Given the description of an element on the screen output the (x, y) to click on. 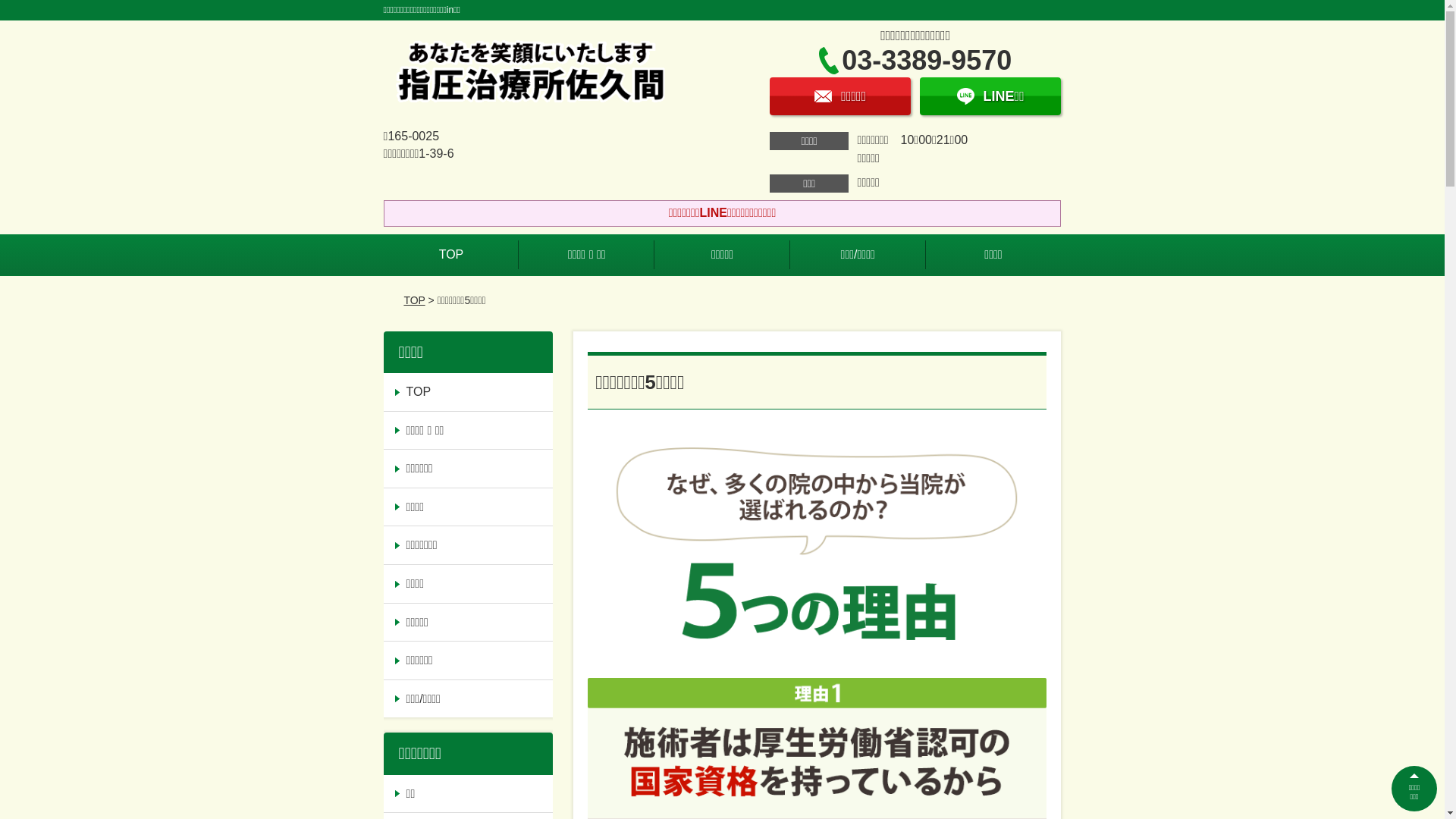
TOP Element type: text (451, 254)
TOP Element type: text (467, 392)
TOP Element type: text (413, 300)
